Given the description of an element on the screen output the (x, y) to click on. 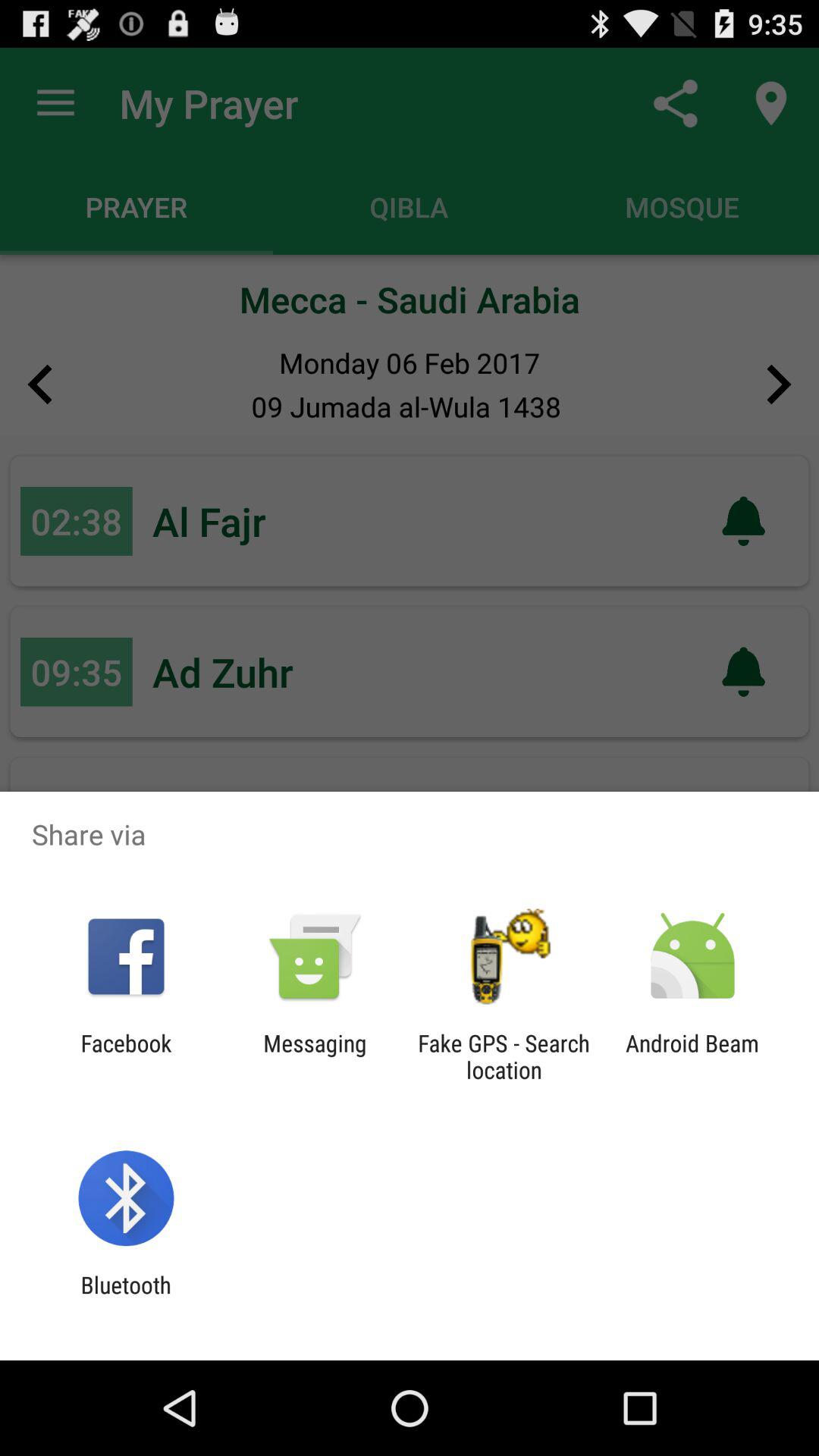
select the app next to the facebook item (314, 1056)
